Given the description of an element on the screen output the (x, y) to click on. 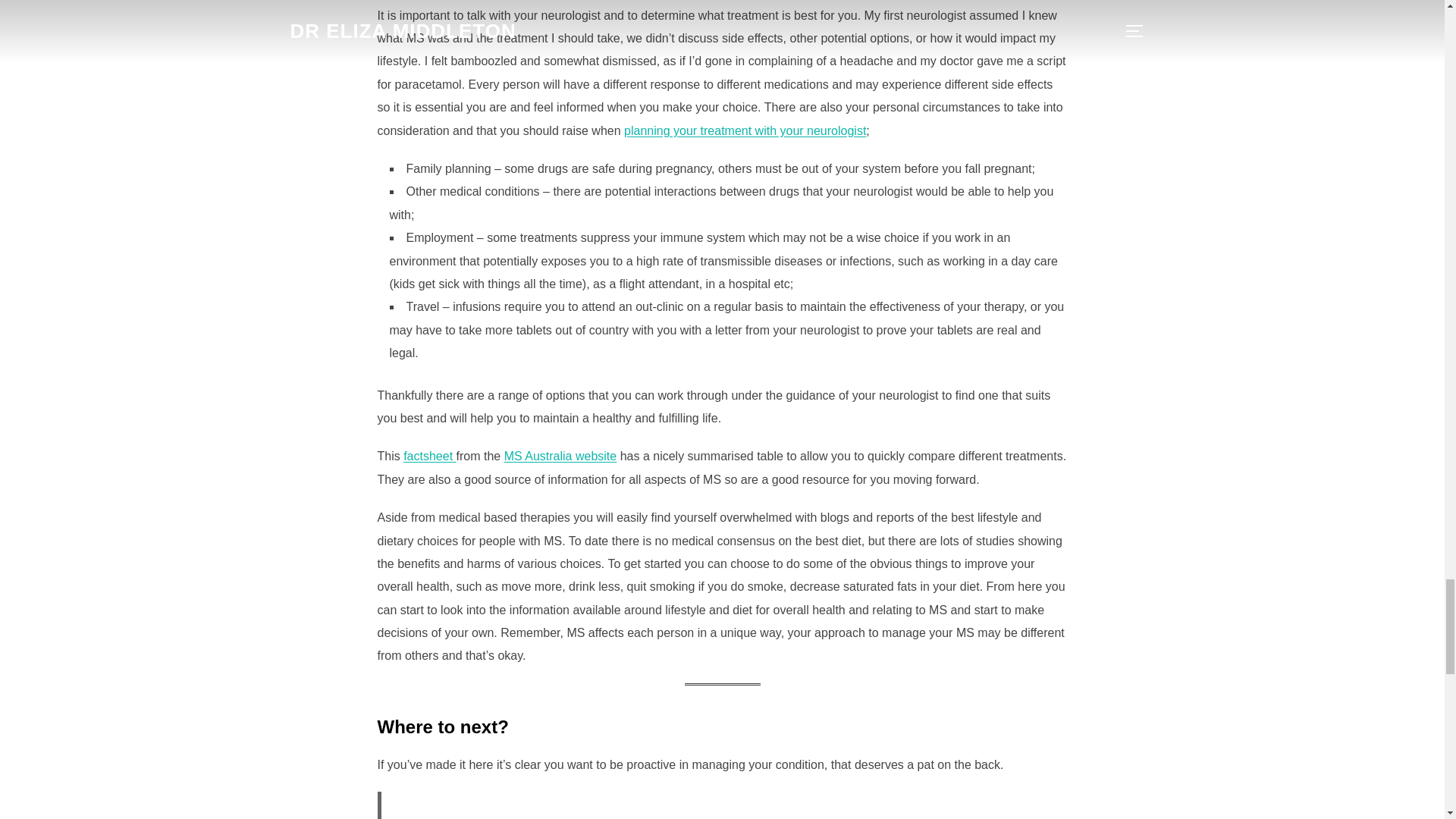
factsheet (429, 455)
MS Australia website (560, 455)
planning your treatment with your neurologist (745, 130)
